Given the description of an element on the screen output the (x, y) to click on. 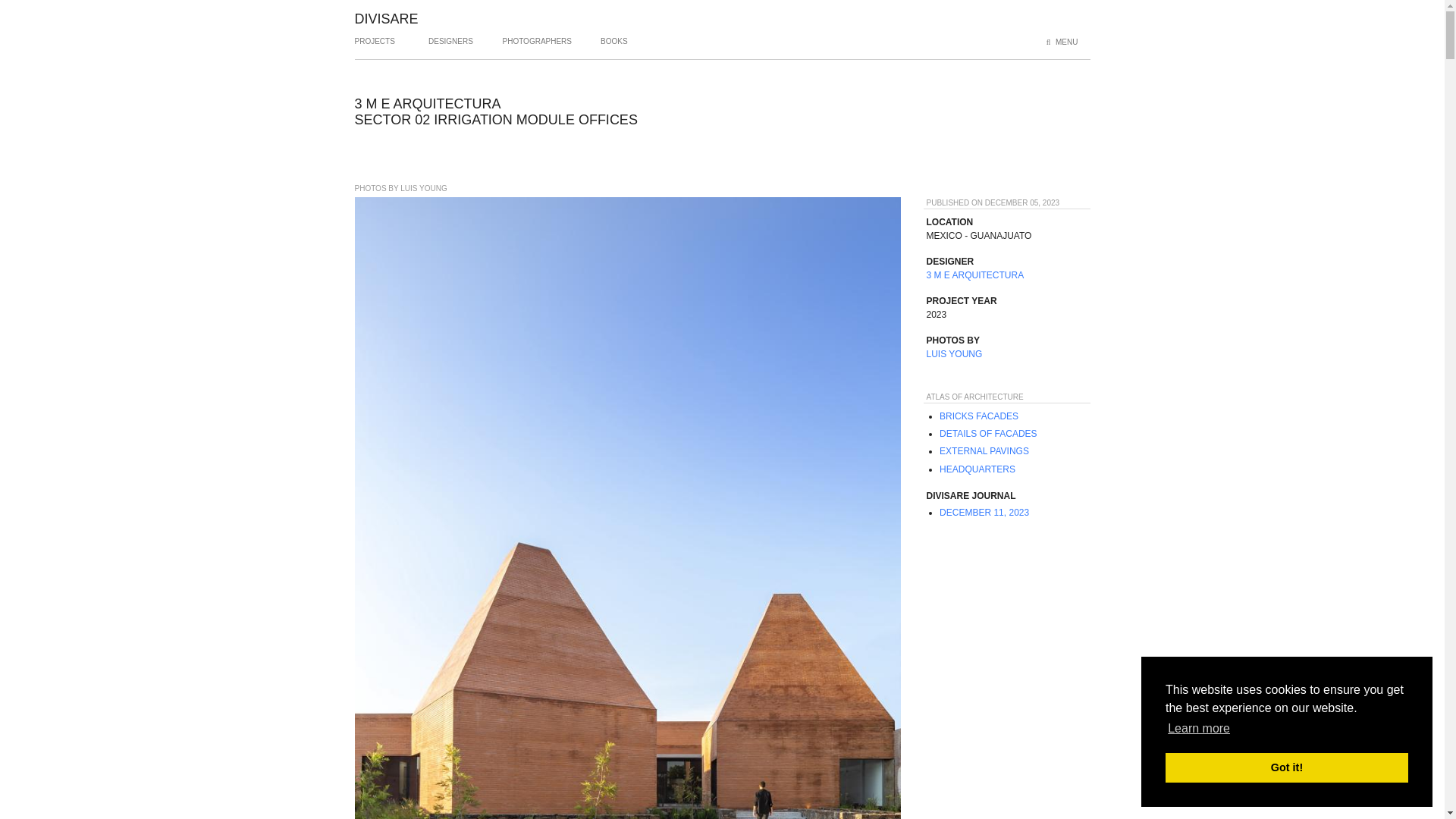
Learn more (1198, 728)
Got it! (1286, 767)
DIVISARE (387, 18)
PROJECTS (374, 46)
